Given the description of an element on the screen output the (x, y) to click on. 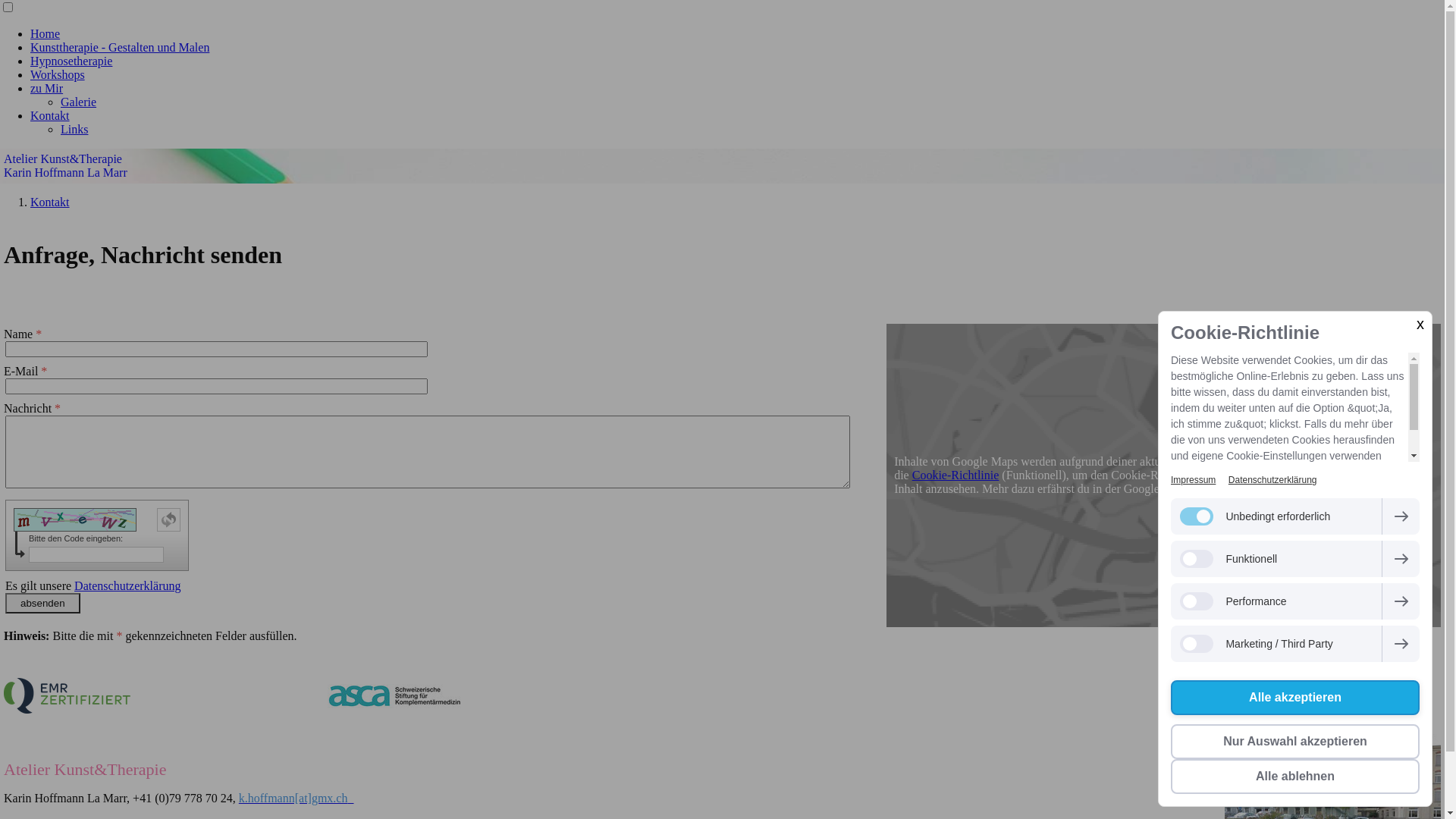
Atelier Kunst&Therapie
Karin Hoffmann La Marr Element type: text (721, 165)
Neuen Code generieren Element type: hover (168, 519)
Galerie Element type: text (78, 101)
Impressum Element type: text (1192, 479)
k.hoffmann[at]gmx.ch   Element type: text (296, 797)
Cookie-Richtlinie Element type: text (955, 474)
Home Element type: text (44, 33)
zu Mir Element type: text (46, 87)
Alle akzeptieren Element type: text (1294, 697)
Alle ablehnen Element type: text (1294, 776)
Workshops Element type: text (57, 74)
Kontakt Element type: text (49, 201)
Kontakt Element type: text (49, 115)
Links Element type: text (73, 128)
absenden Element type: text (42, 603)
Kunsttherapie - Gestalten und Malen Element type: text (119, 46)
Nur Auswahl akzeptieren Element type: text (1294, 741)
Hypnosetherapie Element type: text (71, 60)
